Given the description of an element on the screen output the (x, y) to click on. 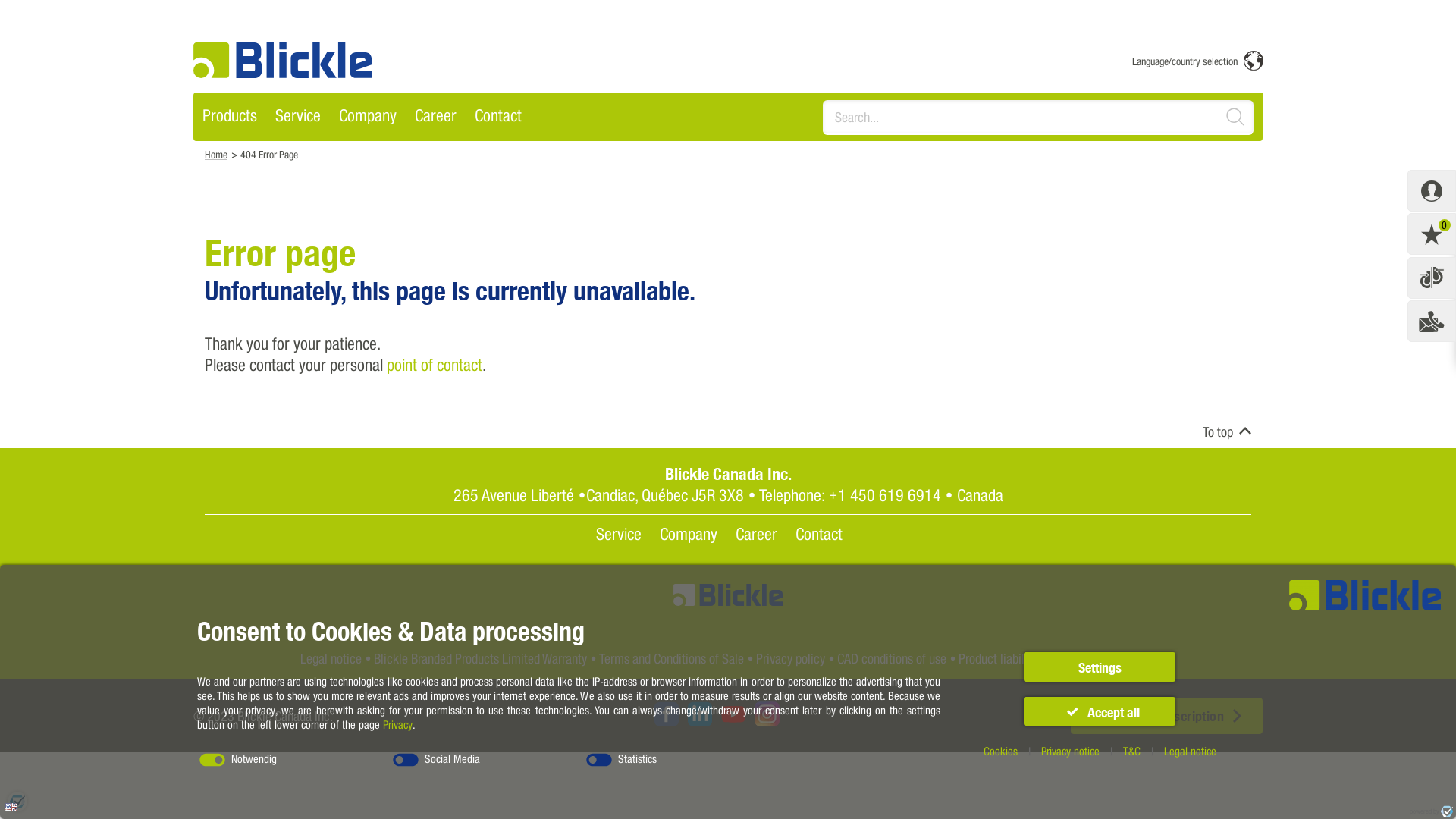
Legal notice Element type: text (330, 658)
Blickle Branded Products Limited Warranty Element type: text (479, 658)
Service Element type: text (297, 116)
YouTube Element type: hover (732, 715)
Privacy policy Element type: text (789, 658)
Instagram Element type: hover (765, 713)
Product conformity Element type: text (1095, 658)
Products Element type: text (229, 116)
Terms and Conditions of Sale Element type: text (671, 658)
Service Element type: text (618, 533)
Blickle Logo Element type: hover (282, 60)
404 Error Page Element type: text (269, 153)
Facebook Element type: hover (665, 715)
Contact Element type: text (497, 116)
Company Element type: text (688, 533)
To top Element type: text (1217, 431)
Newsletter Subscription Element type: text (1166, 715)
Search Element type: text (1241, 116)
CAD conditions of use Element type: text (891, 658)
Instagram Element type: hover (765, 715)
Career Element type: text (435, 116)
point of contact Element type: text (434, 364)
+1 450 619 6914 Element type: text (884, 494)
Company Element type: text (367, 116)
Contact Element type: text (817, 533)
Home Element type: text (215, 153)
company-logo Element type: hover (282, 61)
LinkedIn Element type: hover (699, 715)
Career Element type: text (756, 533)
Product liability Element type: text (997, 658)
